Given the description of an element on the screen output the (x, y) to click on. 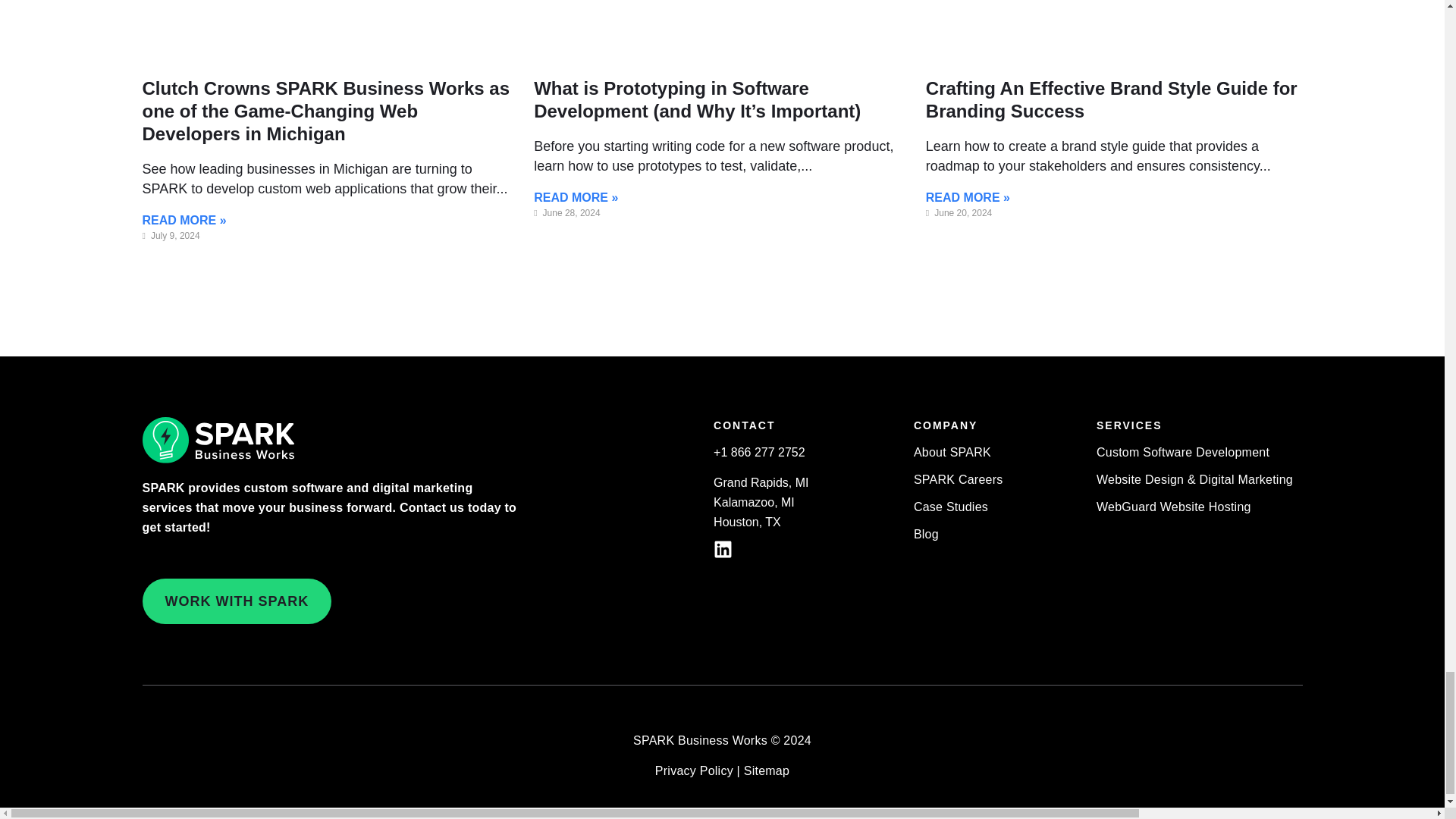
Crafting An Effective Brand Style Guide for Branding Success (1111, 99)
Crafting An Effective Brand Style Guide for Branding Success (1111, 99)
